Given the description of an element on the screen output the (x, y) to click on. 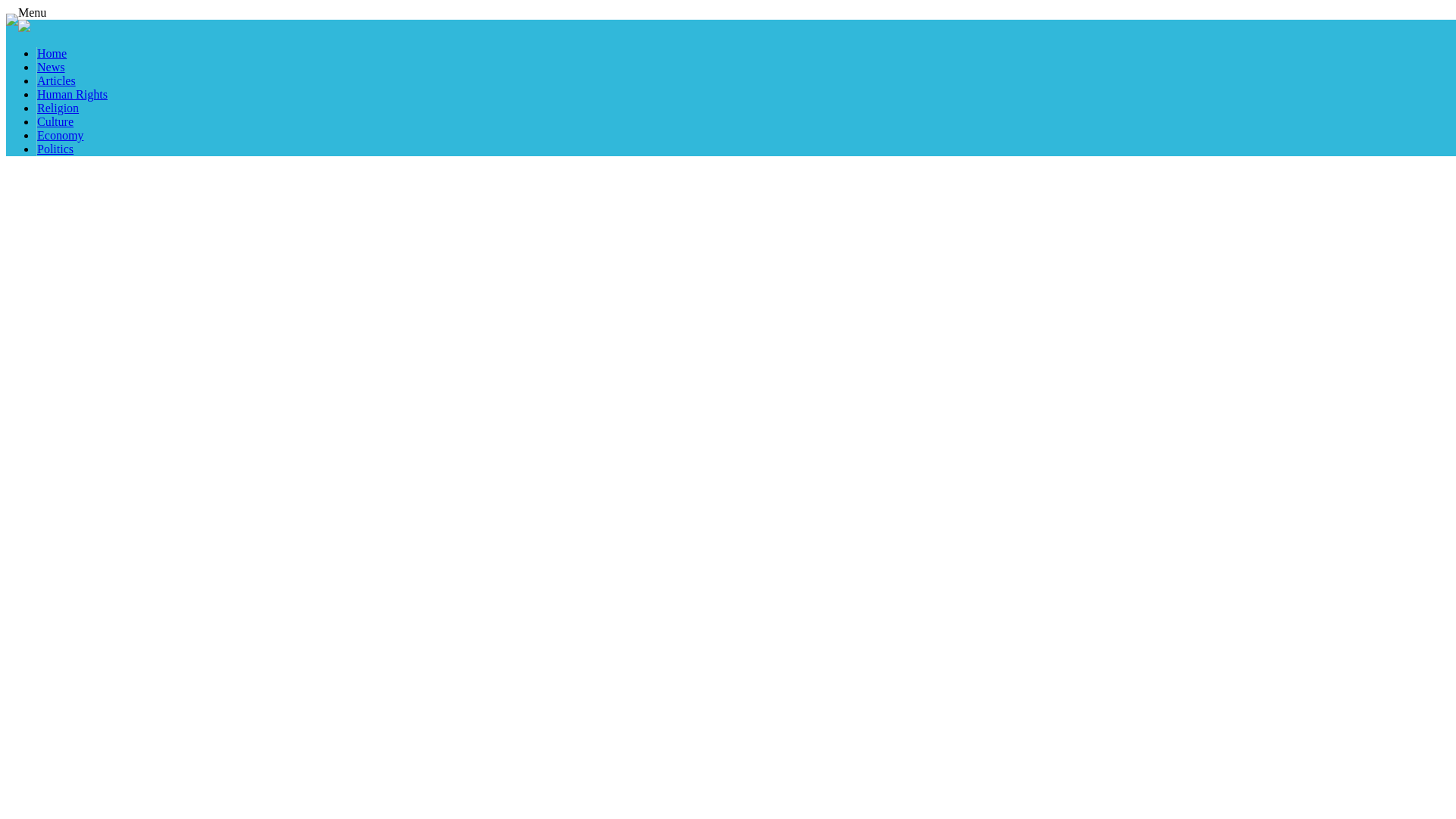
News (50, 66)
Religion (57, 107)
Home (51, 52)
Economy (59, 134)
Human Rights (72, 93)
Culture (55, 121)
Articles (56, 80)
